Given the description of an element on the screen output the (x, y) to click on. 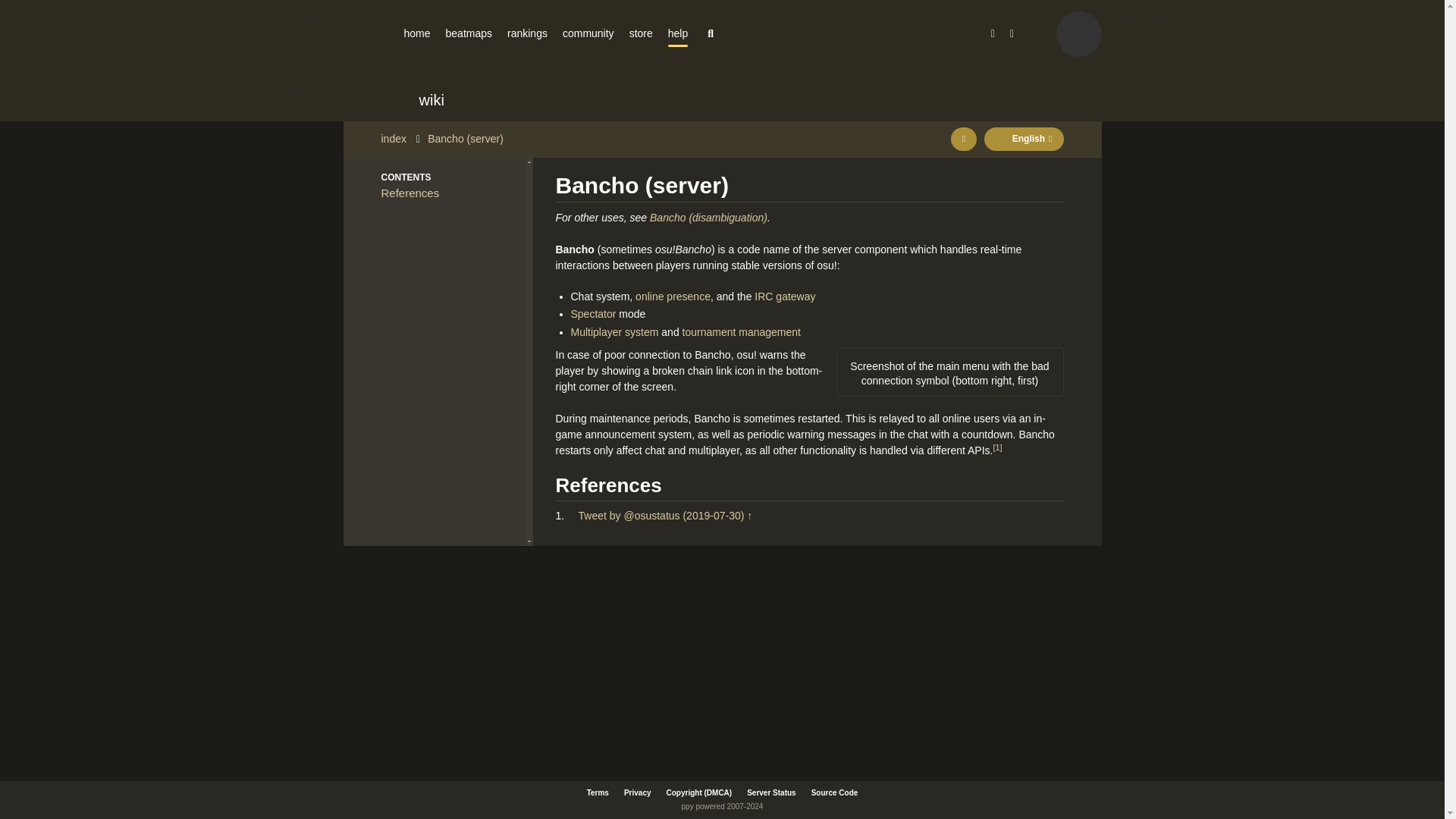
Show on GitHub (963, 138)
click to sign in (1077, 33)
